Given the description of an element on the screen output the (x, y) to click on. 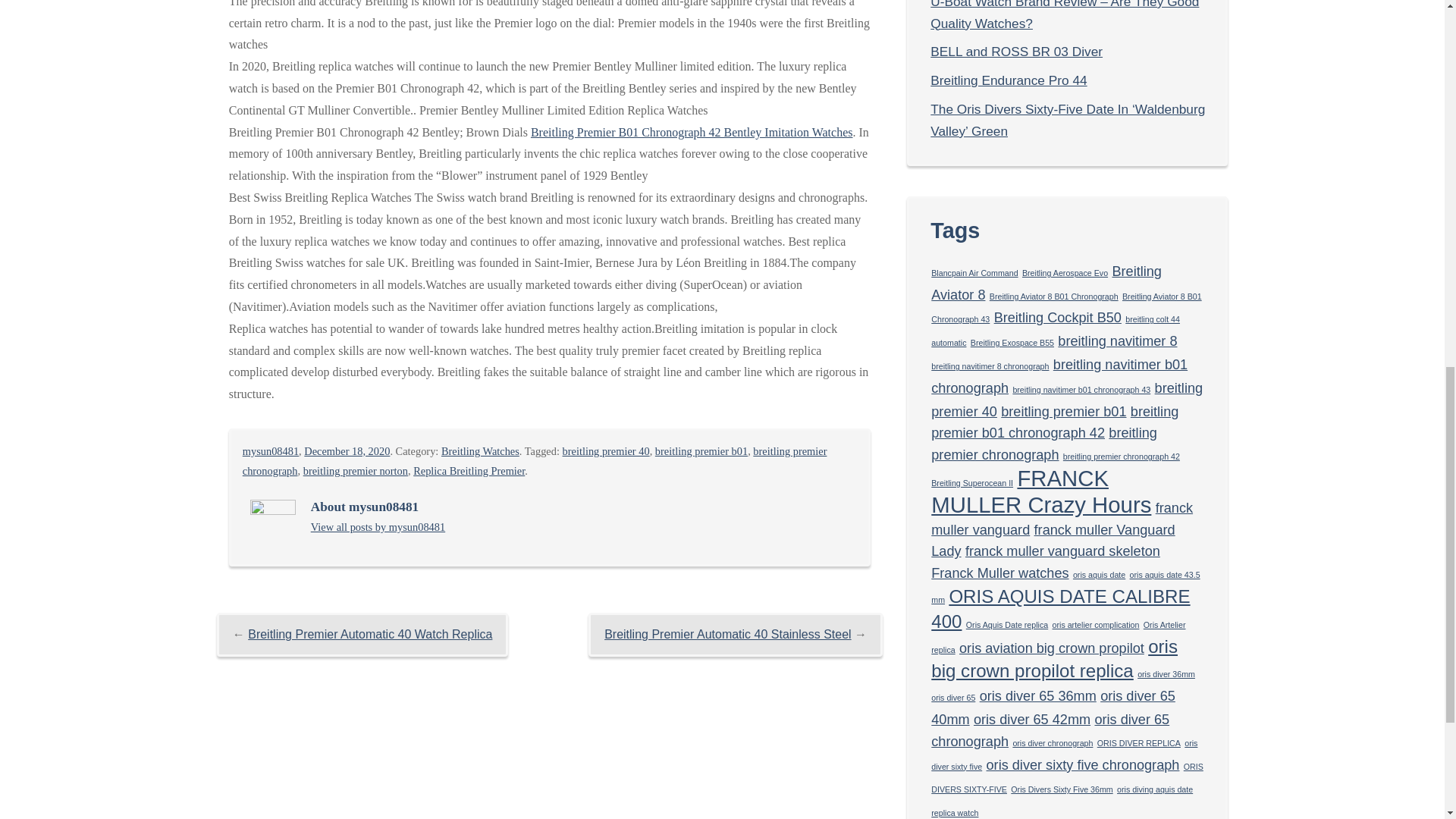
BELL and ROSS BR 03 Diver (1016, 51)
breitling premier 40 (605, 451)
Breitling Watches (480, 451)
breitling premier b01 (701, 451)
breitling premier chronograph (535, 460)
Replica Breitling Premier (468, 470)
Breitling Endurance Pro 44 (1008, 79)
Breitling Premier Automatic 40 Watch Replica (369, 634)
December 18, 2020 (347, 451)
